Given the description of an element on the screen output the (x, y) to click on. 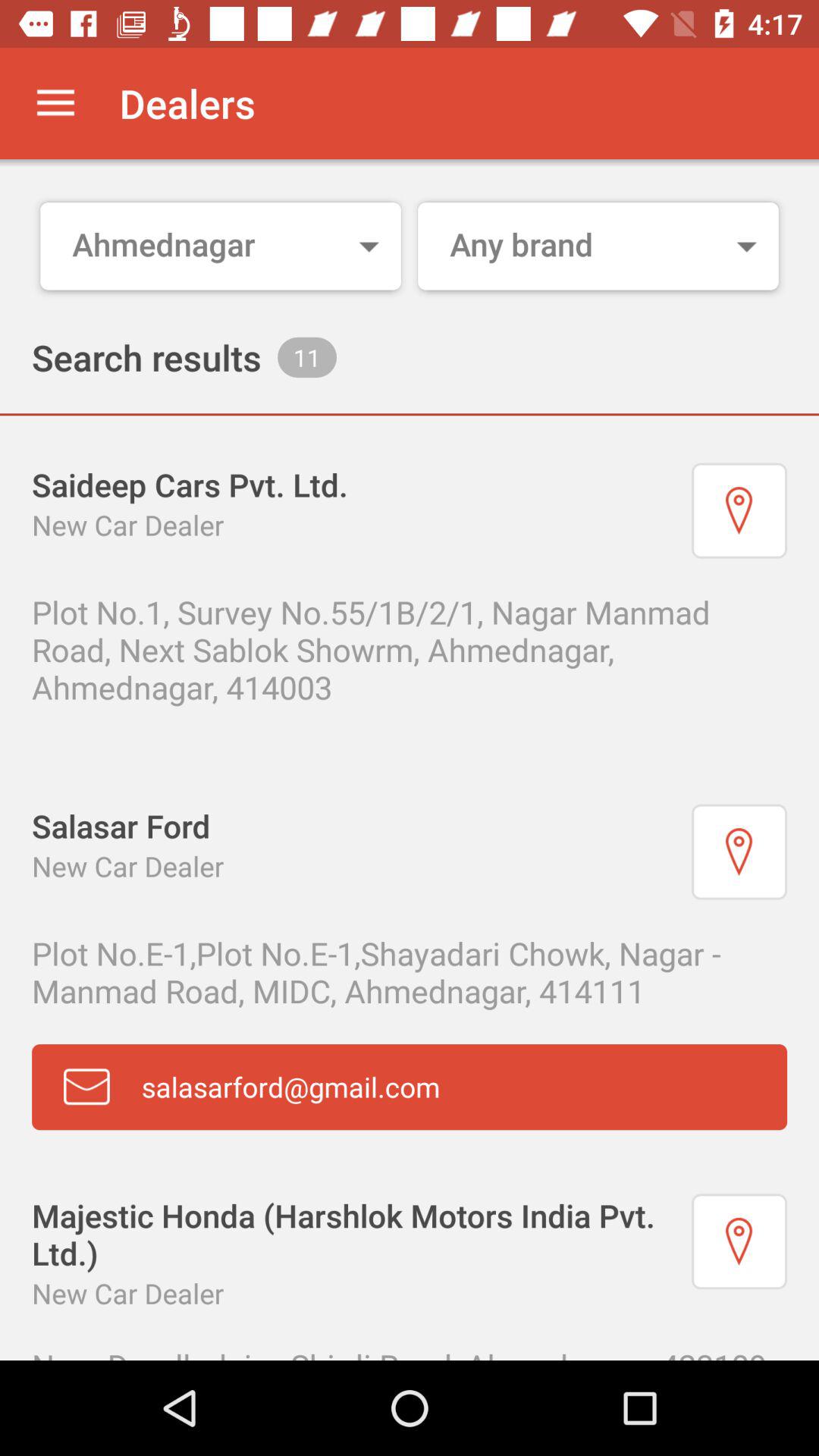
location (739, 510)
